Given the description of an element on the screen output the (x, y) to click on. 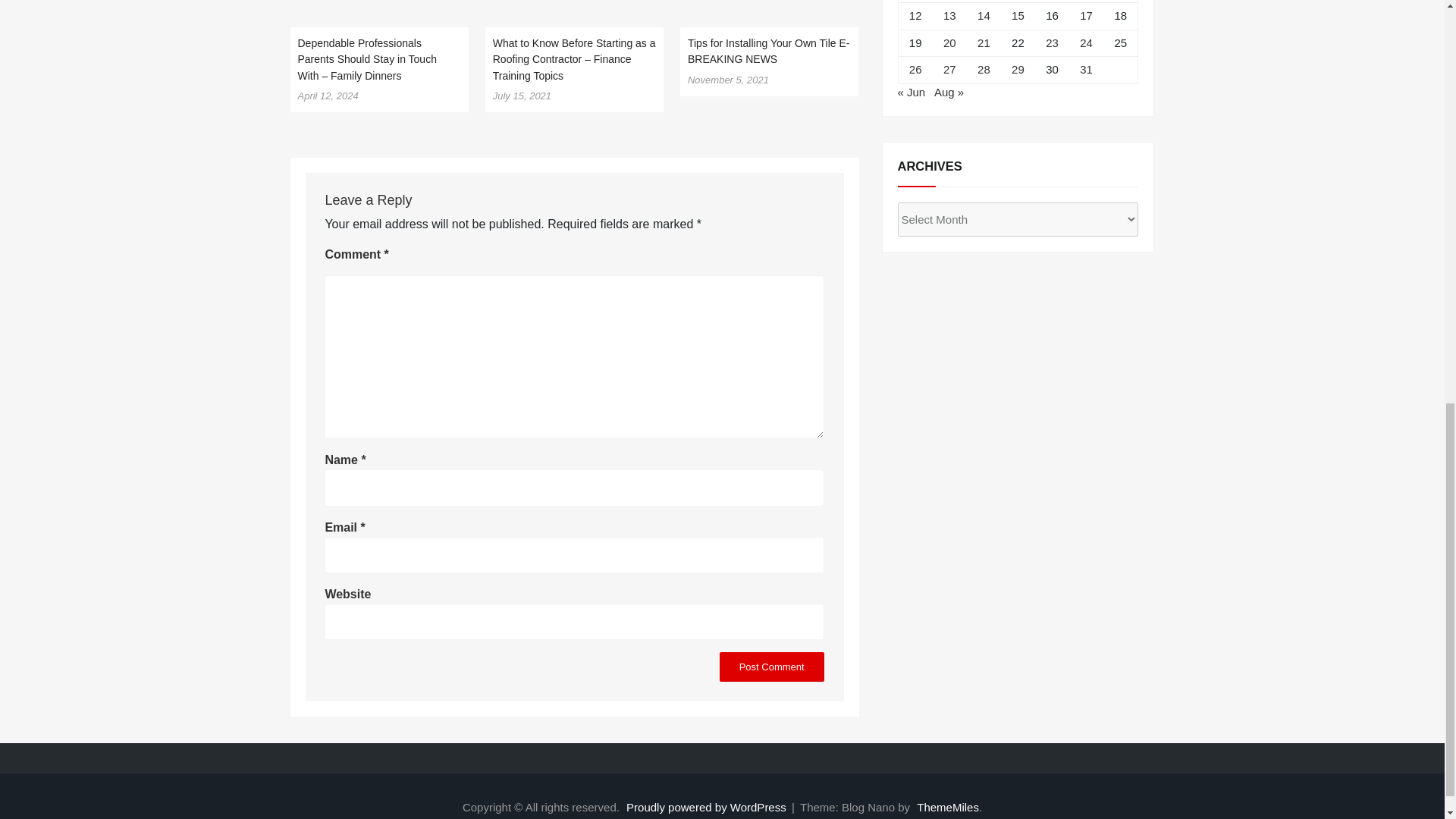
Tips for Installing Your Own Tile E-BREAKING NEWS (767, 51)
Post Comment (771, 666)
Post Comment (771, 666)
